Given the description of an element on the screen output the (x, y) to click on. 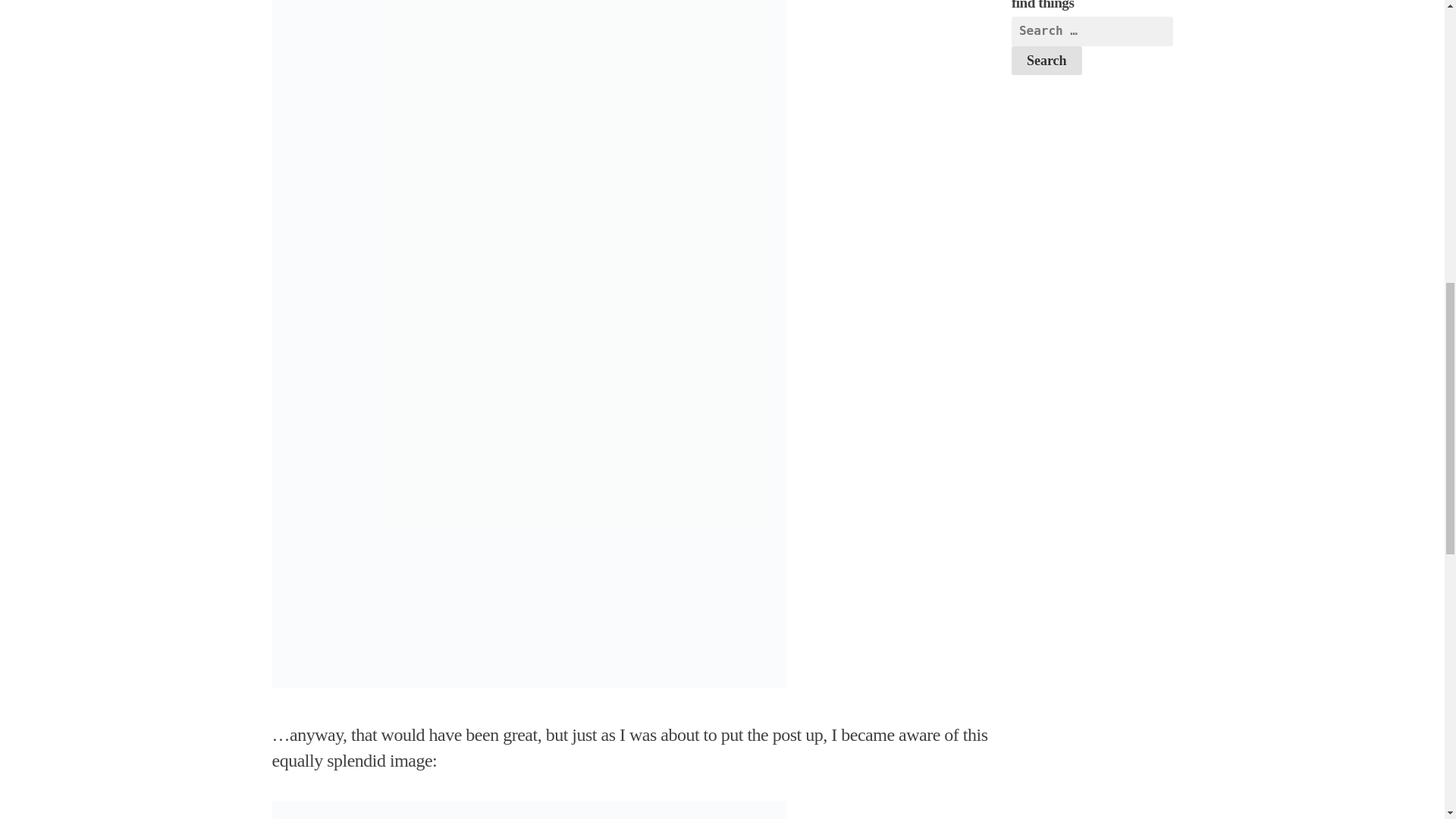
Search (1046, 60)
Search (1046, 60)
